Given the description of an element on the screen output the (x, y) to click on. 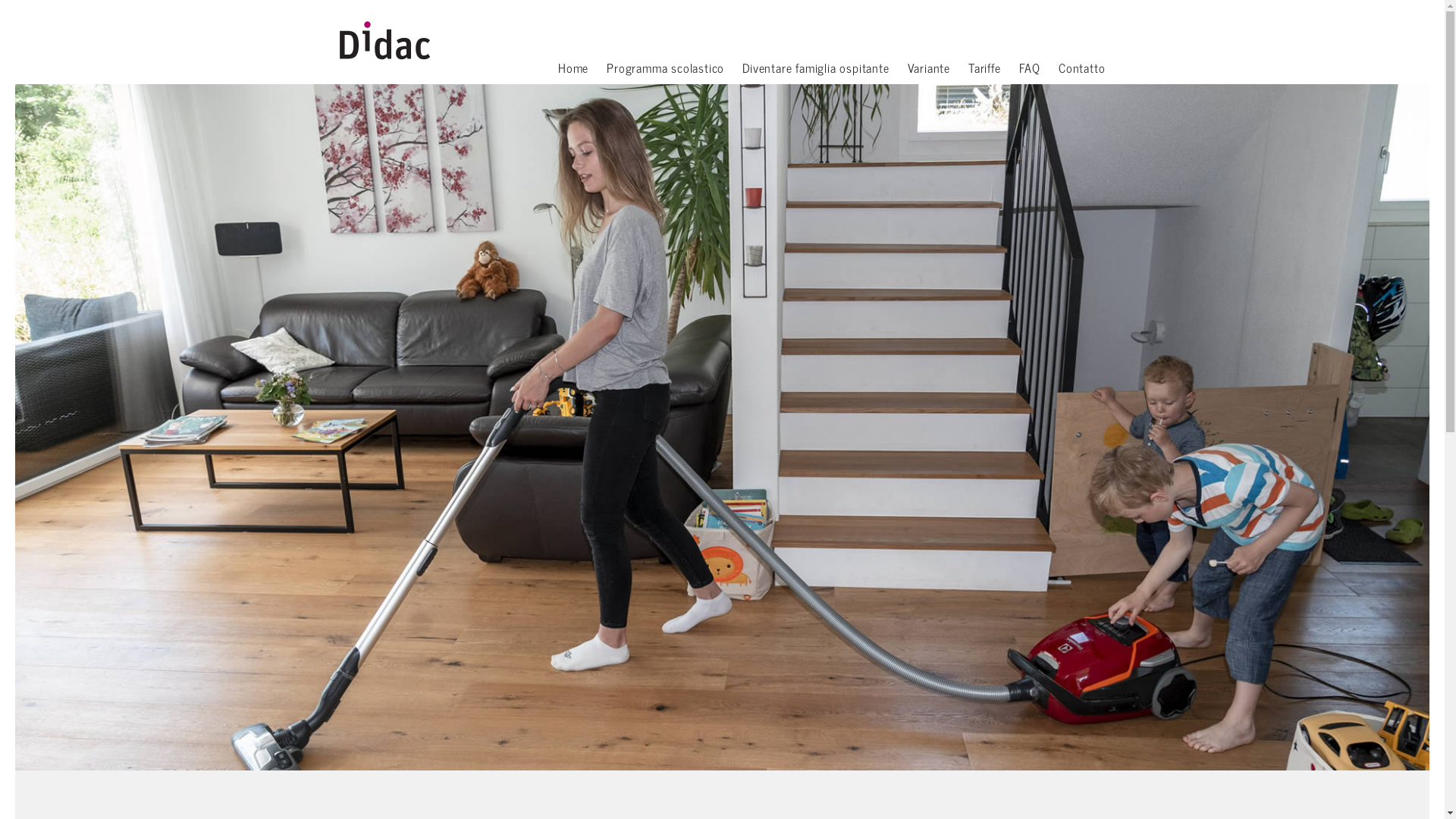
Variante Element type: text (928, 69)
Tariffe Element type: text (984, 69)
Home Element type: text (573, 69)
FAQ Element type: text (1029, 69)
Programma scolastico Element type: text (665, 69)
Diventare famiglia ospitante Element type: text (815, 69)
Contatto Element type: text (1081, 69)
